Given the description of an element on the screen output the (x, y) to click on. 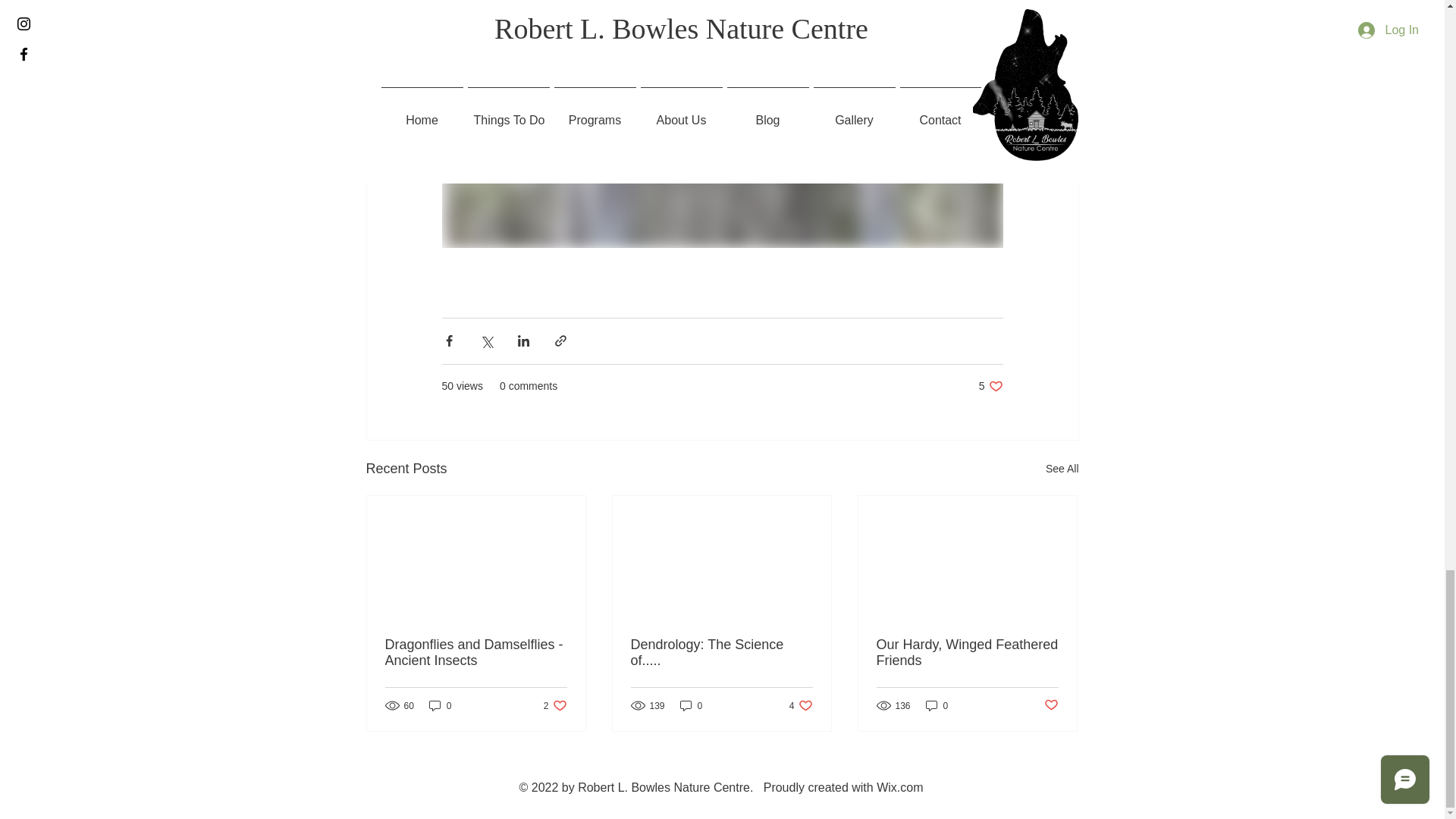
Dendrology: The Science of..... (721, 653)
0 (555, 705)
Dragonflies and Damselflies - Ancient Insects (691, 705)
0 (800, 705)
0 (476, 653)
See All (937, 705)
Our Hardy, Winged Feathered Friends (990, 386)
Post not marked as liked (440, 705)
